Given the description of an element on the screen output the (x, y) to click on. 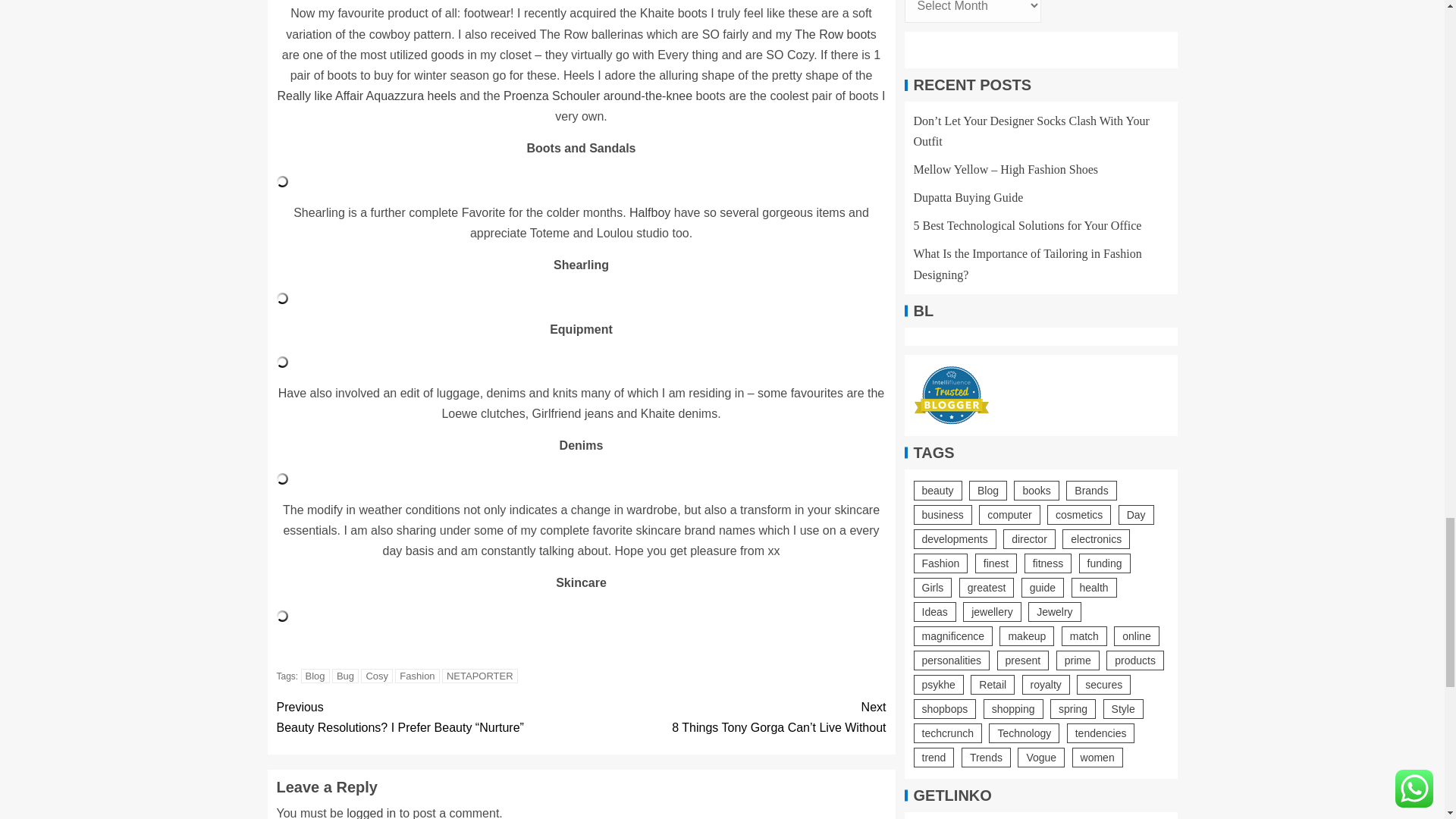
Really like Affair Aquazzura heels (367, 95)
Halfboy (648, 212)
The Row boot (832, 33)
Proenza Schouler around-the-knee (598, 95)
